Given the description of an element on the screen output the (x, y) to click on. 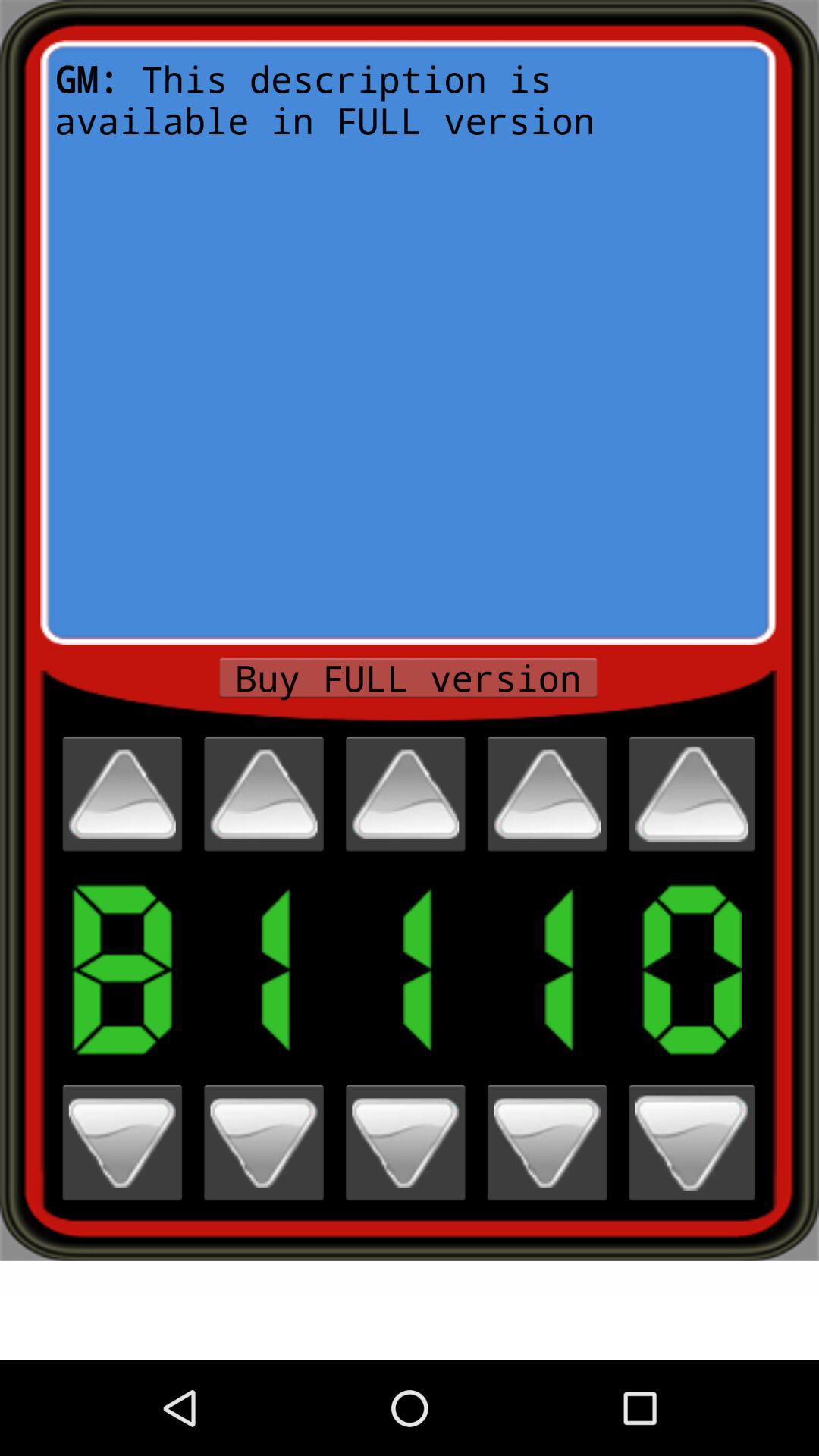
play option (691, 794)
